Given the description of an element on the screen output the (x, y) to click on. 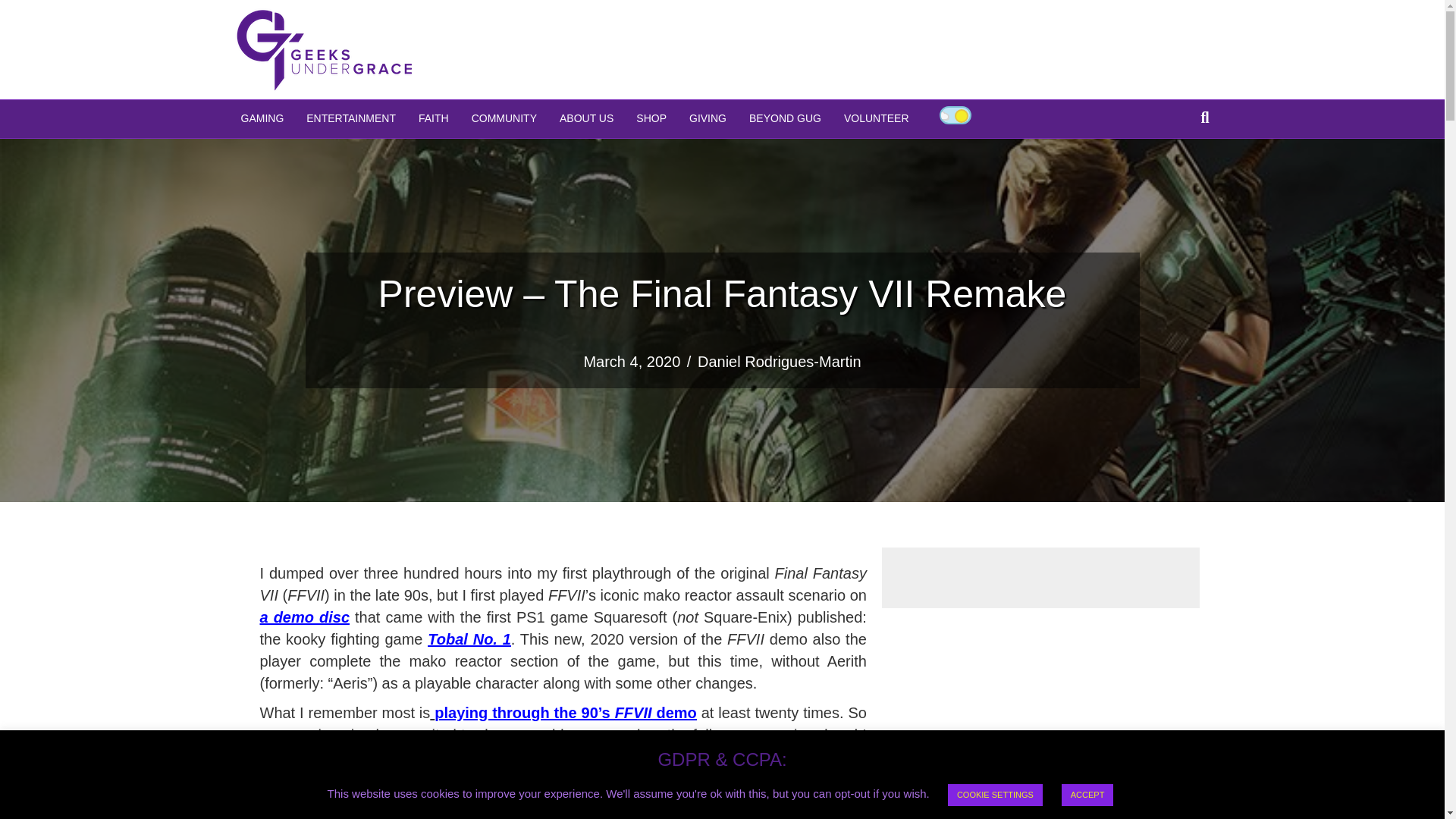
GIVING (708, 118)
GAMING (261, 118)
SHOP (651, 118)
Tobal No. 1 (469, 638)
ABOUT US (586, 118)
COMMUNITY (504, 118)
ENTERTAINMENT (351, 118)
VOLUNTEER (876, 118)
Daniel Rodrigues-Martin (779, 361)
BEYOND GUG (785, 118)
a demo disc (304, 617)
FAITH (433, 118)
